Given the description of an element on the screen output the (x, y) to click on. 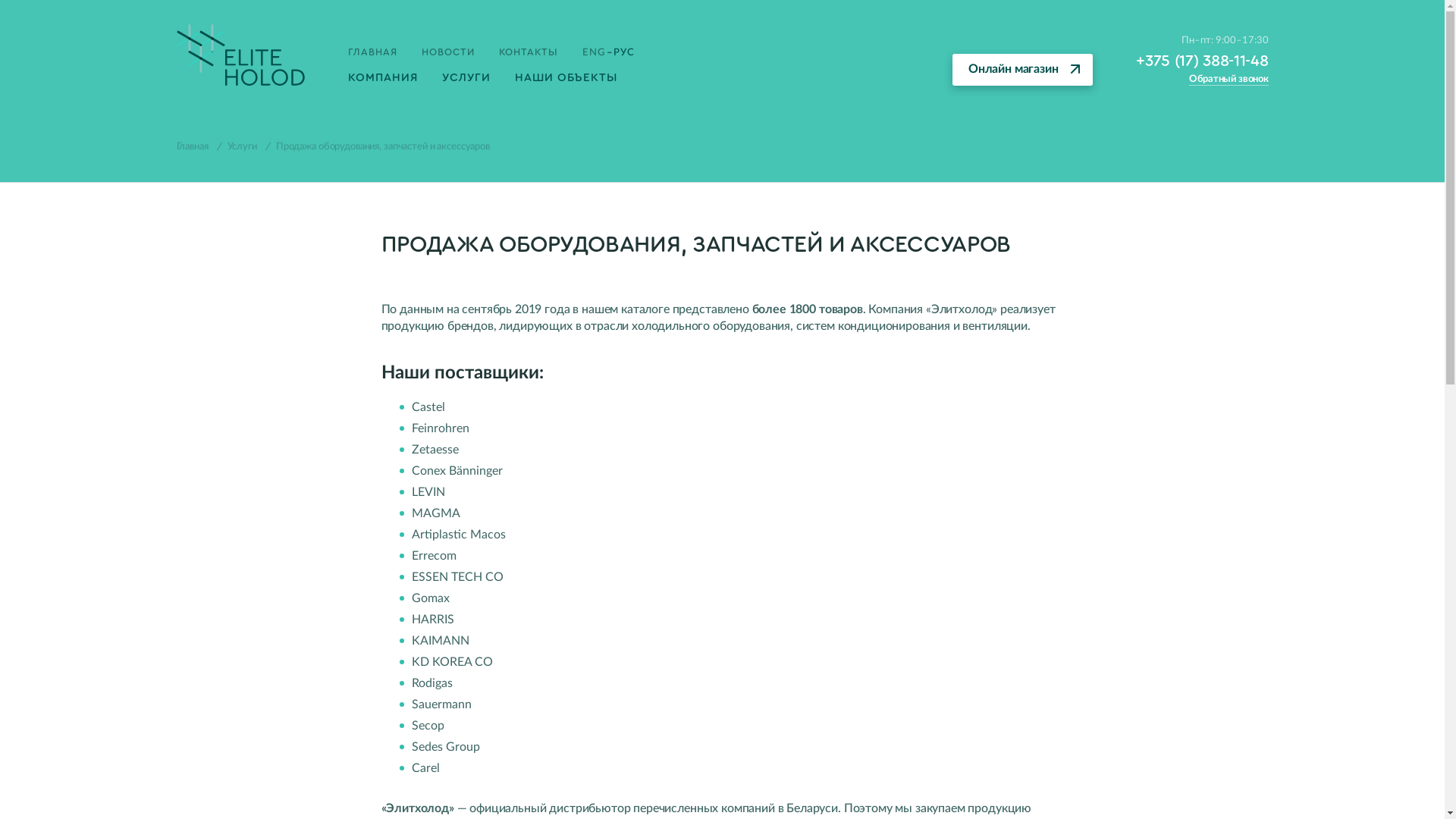
ENG Element type: text (593, 53)
+375 (17) 388-11-48 Element type: text (1201, 61)
